Given the description of an element on the screen output the (x, y) to click on. 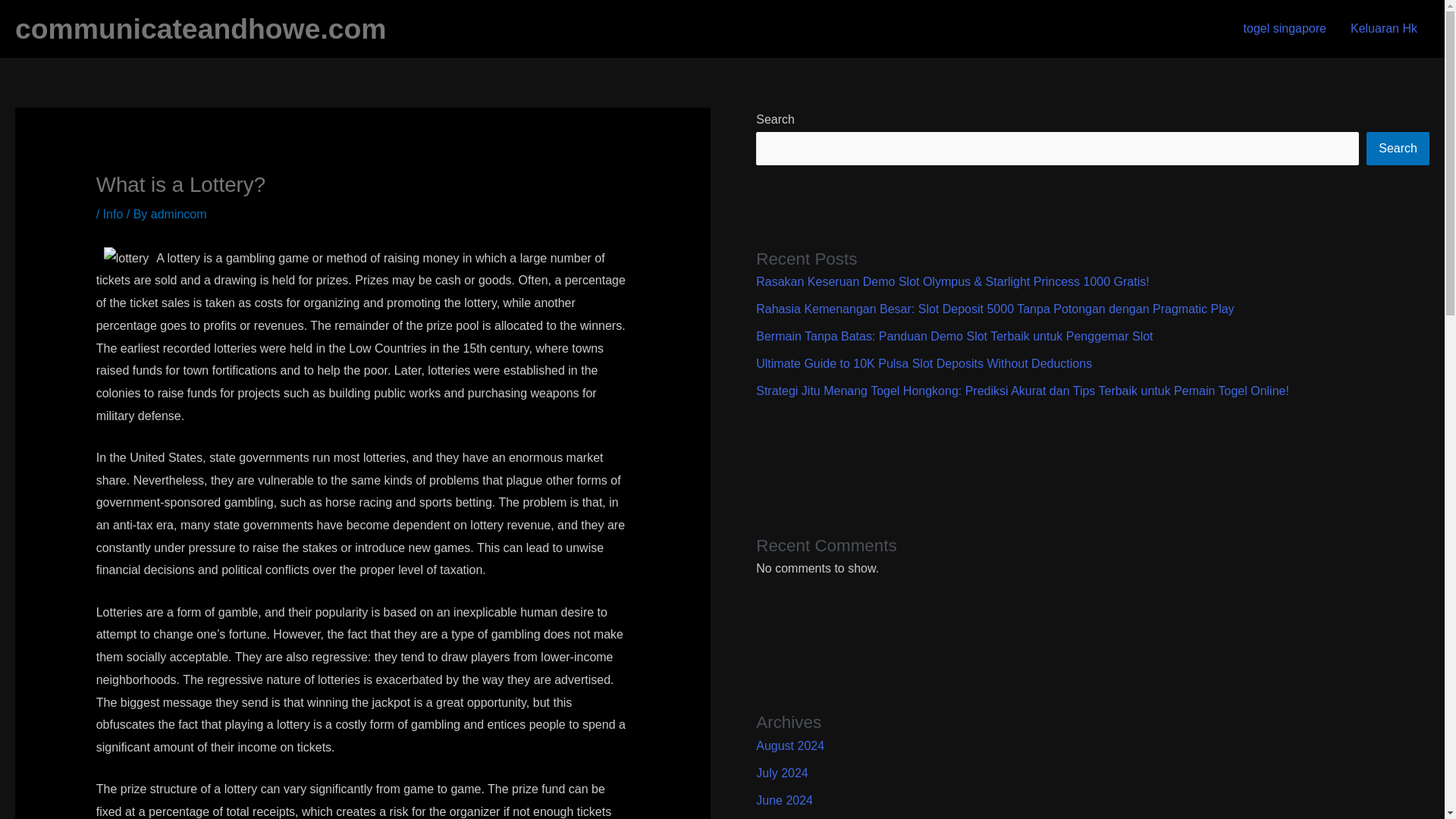
Search (1398, 148)
togel singapore (1284, 28)
View all posts by admincom (178, 214)
communicateandhowe.com (200, 29)
June 2024 (783, 799)
Ultimate Guide to 10K Pulsa Slot Deposits Without Deductions (923, 363)
Info (113, 214)
August 2024 (789, 745)
Keluaran Hk (1383, 28)
admincom (178, 214)
July 2024 (781, 772)
